Given the description of an element on the screen output the (x, y) to click on. 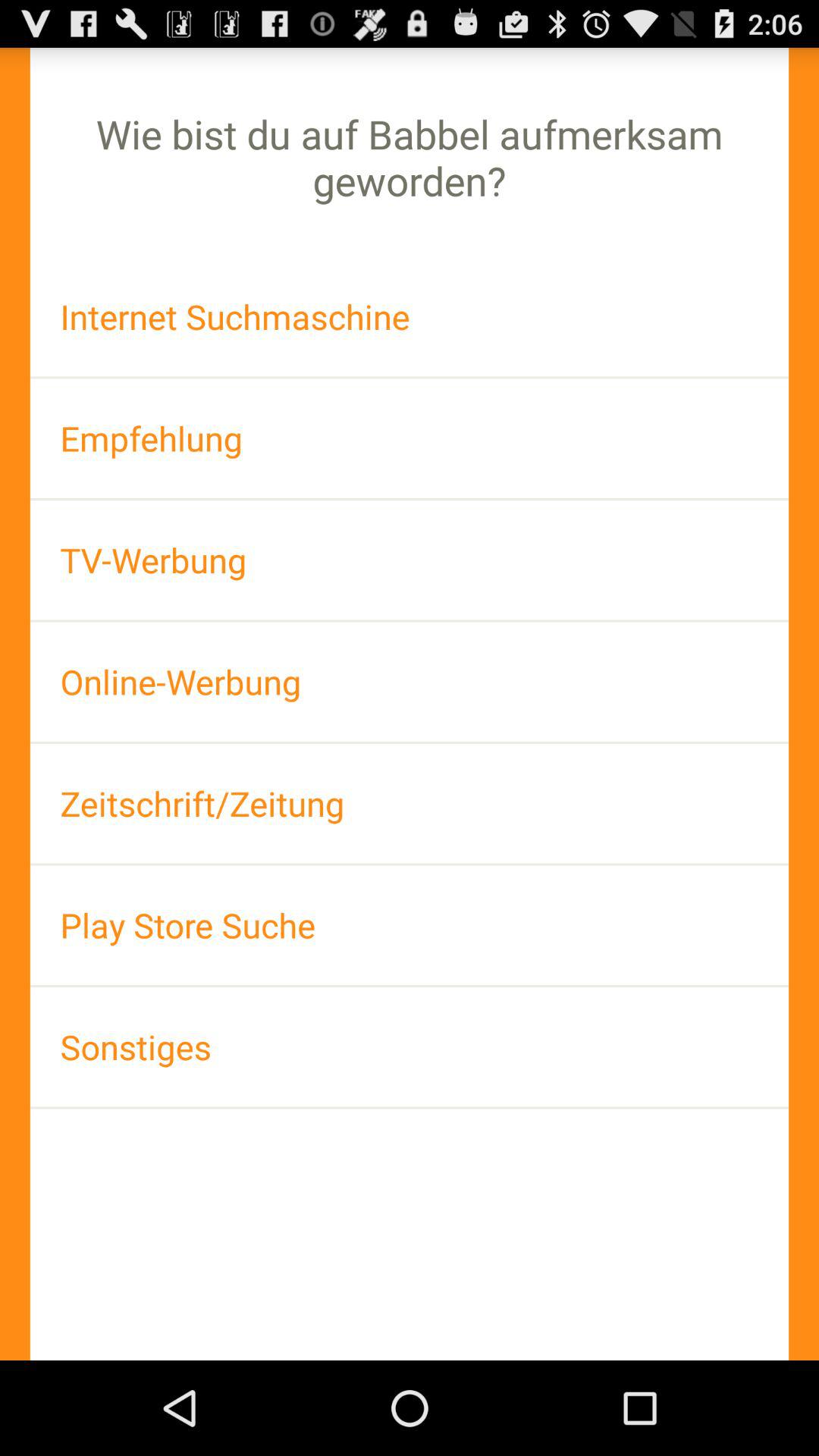
press the online-werbung app (409, 681)
